Given the description of an element on the screen output the (x, y) to click on. 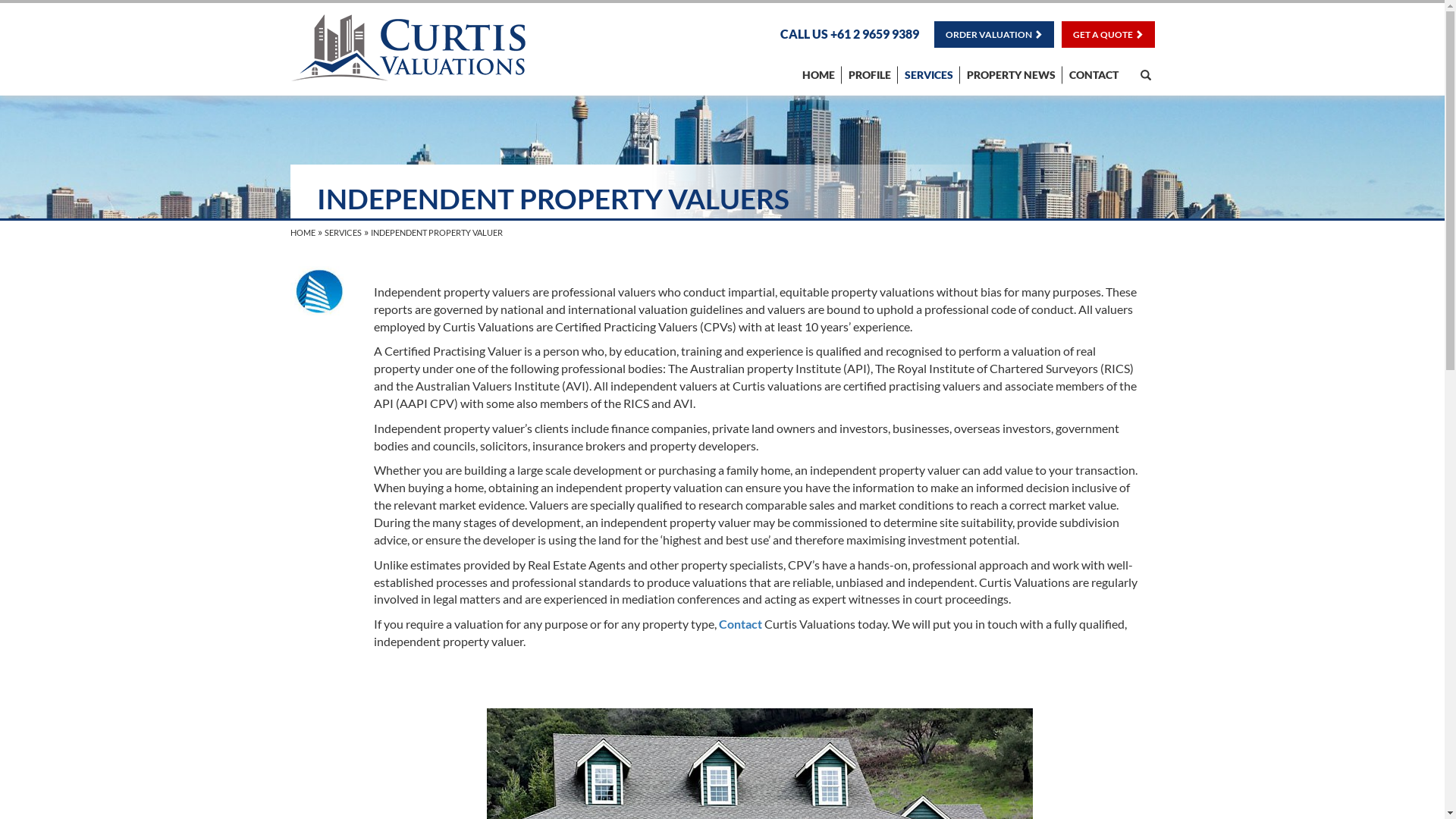
Contact Element type: text (740, 623)
HOME Element type: text (818, 74)
PROFILE Element type: text (868, 74)
CONTACT Element type: text (1093, 74)
SERVICES Element type: text (927, 74)
PROPERTY NEWS Element type: text (1010, 74)
CALL US +61 2 9659 9389 Element type: text (848, 33)
SERVICES Element type: text (342, 232)
Property Valuers Sydney Element type: hover (406, 47)
HOME Element type: text (301, 232)
INDEPENDENT PROPERTY VALUER Element type: text (436, 232)
